Given the description of an element on the screen output the (x, y) to click on. 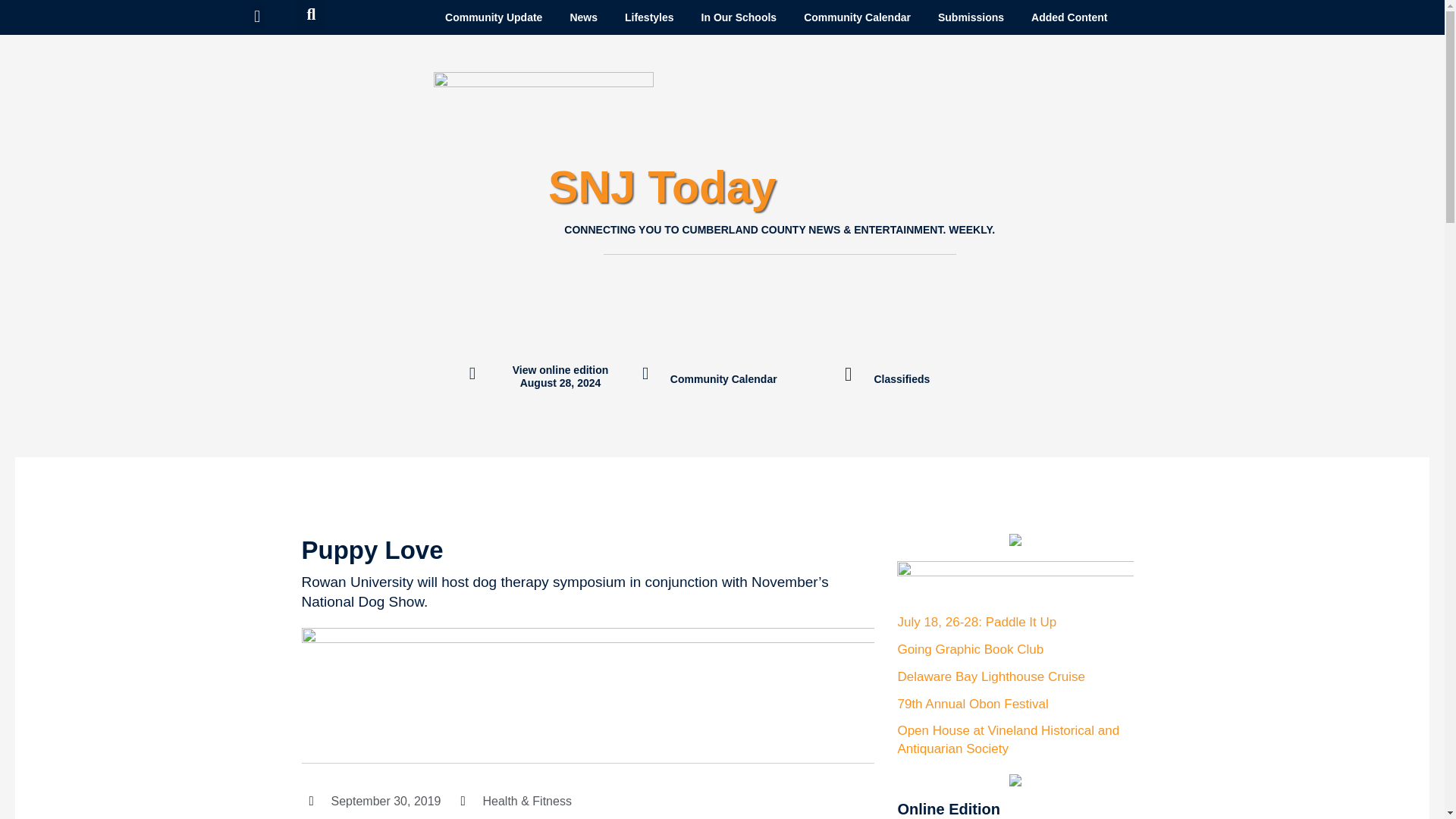
Lifestyles (649, 17)
News (583, 17)
Added Content (1069, 17)
Submissions (970, 17)
In Our Schools (738, 17)
Community Calendar (857, 17)
Community Update (493, 17)
